Given the description of an element on the screen output the (x, y) to click on. 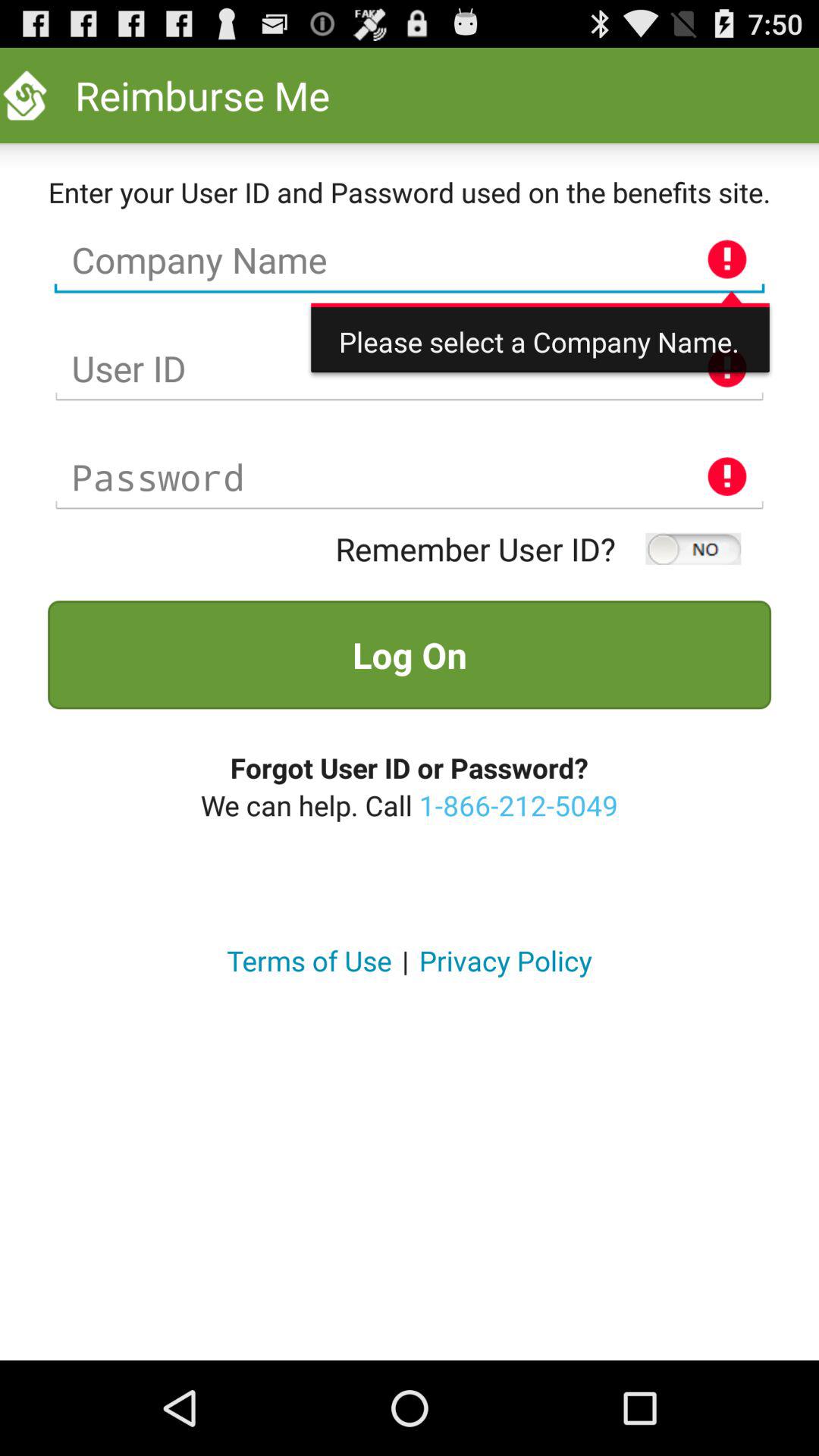
enter the user id (409, 368)
